Given the description of an element on the screen output the (x, y) to click on. 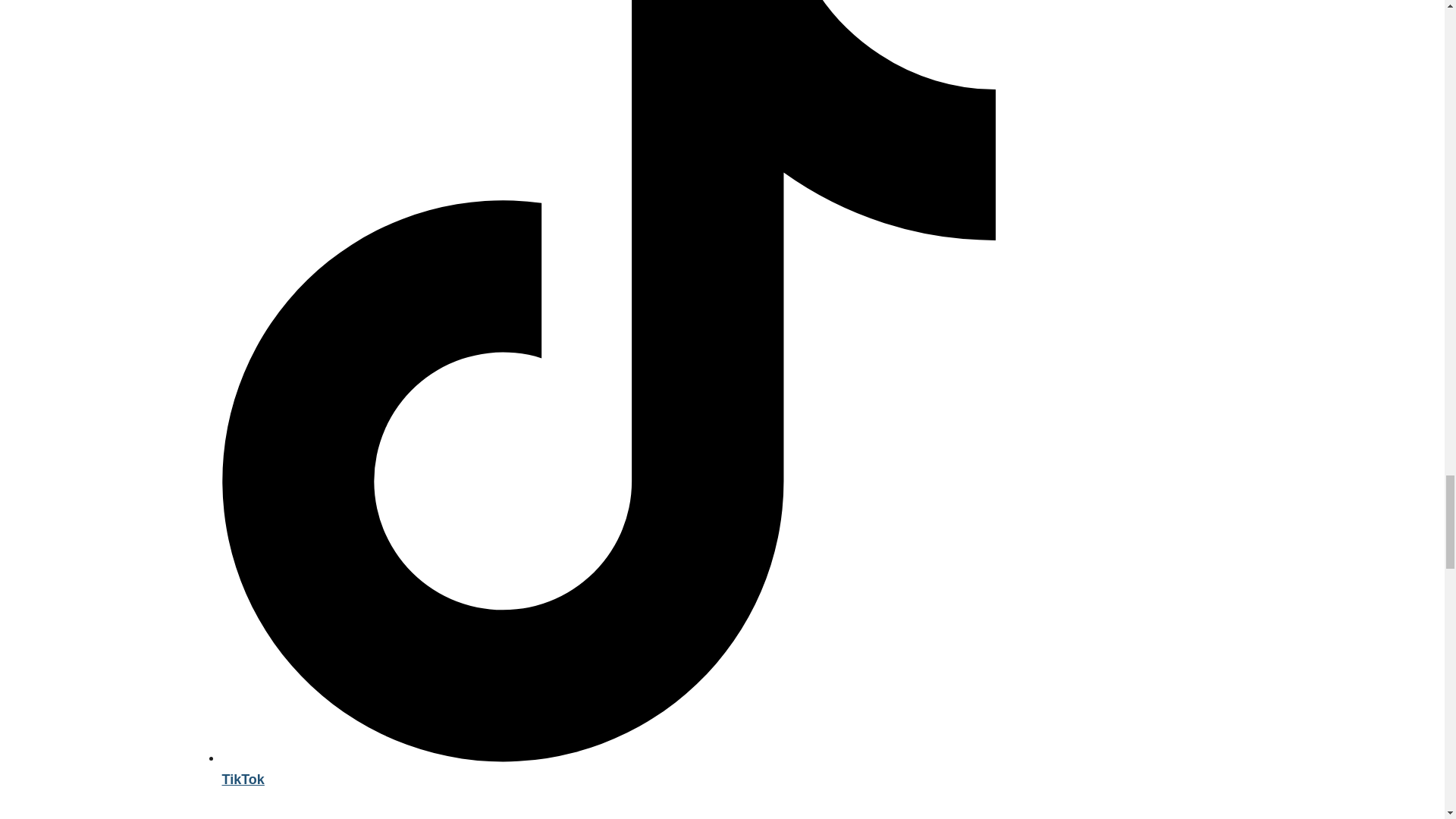
TikTok (607, 768)
